Given the description of an element on the screen output the (x, y) to click on. 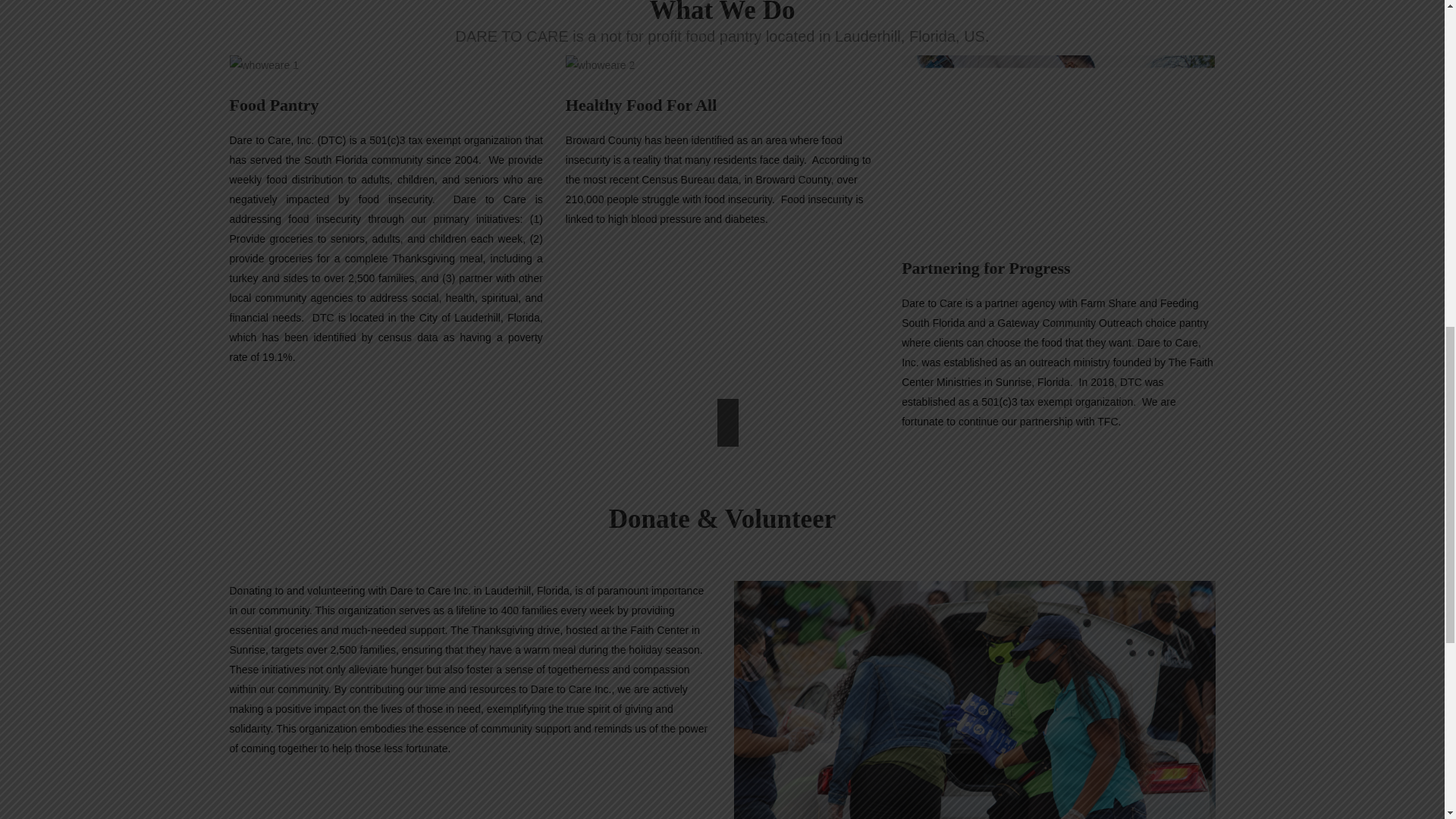
whoweare 3 (1057, 146)
whoweare 1 (263, 65)
DTCVolunteers (974, 699)
whoweare 2 (600, 65)
